Given the description of an element on the screen output the (x, y) to click on. 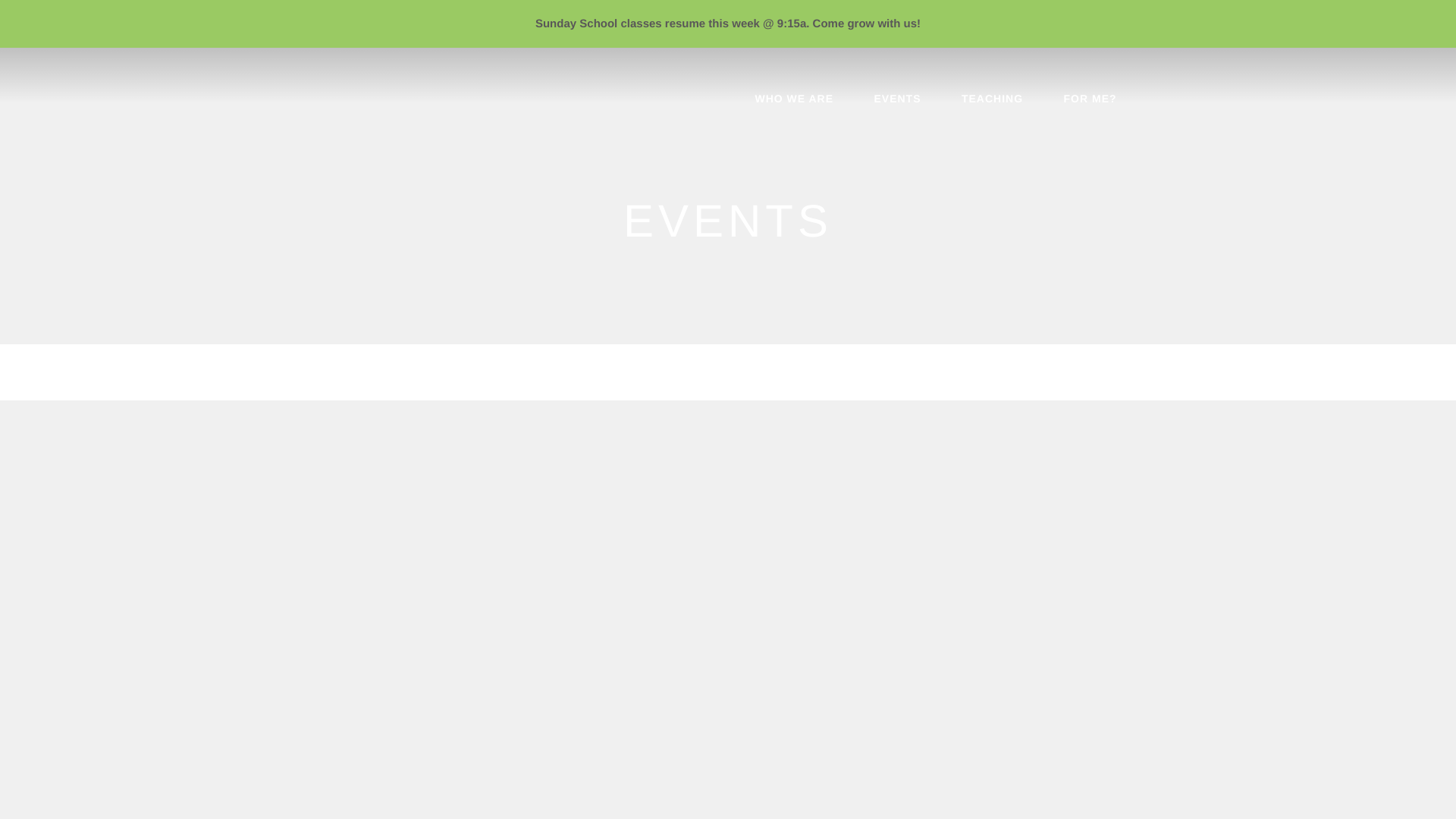
FOR ME? (1090, 102)
EVENTS (896, 102)
TEACHING (991, 102)
WHO WE ARE (793, 102)
